Given the description of an element on the screen output the (x, y) to click on. 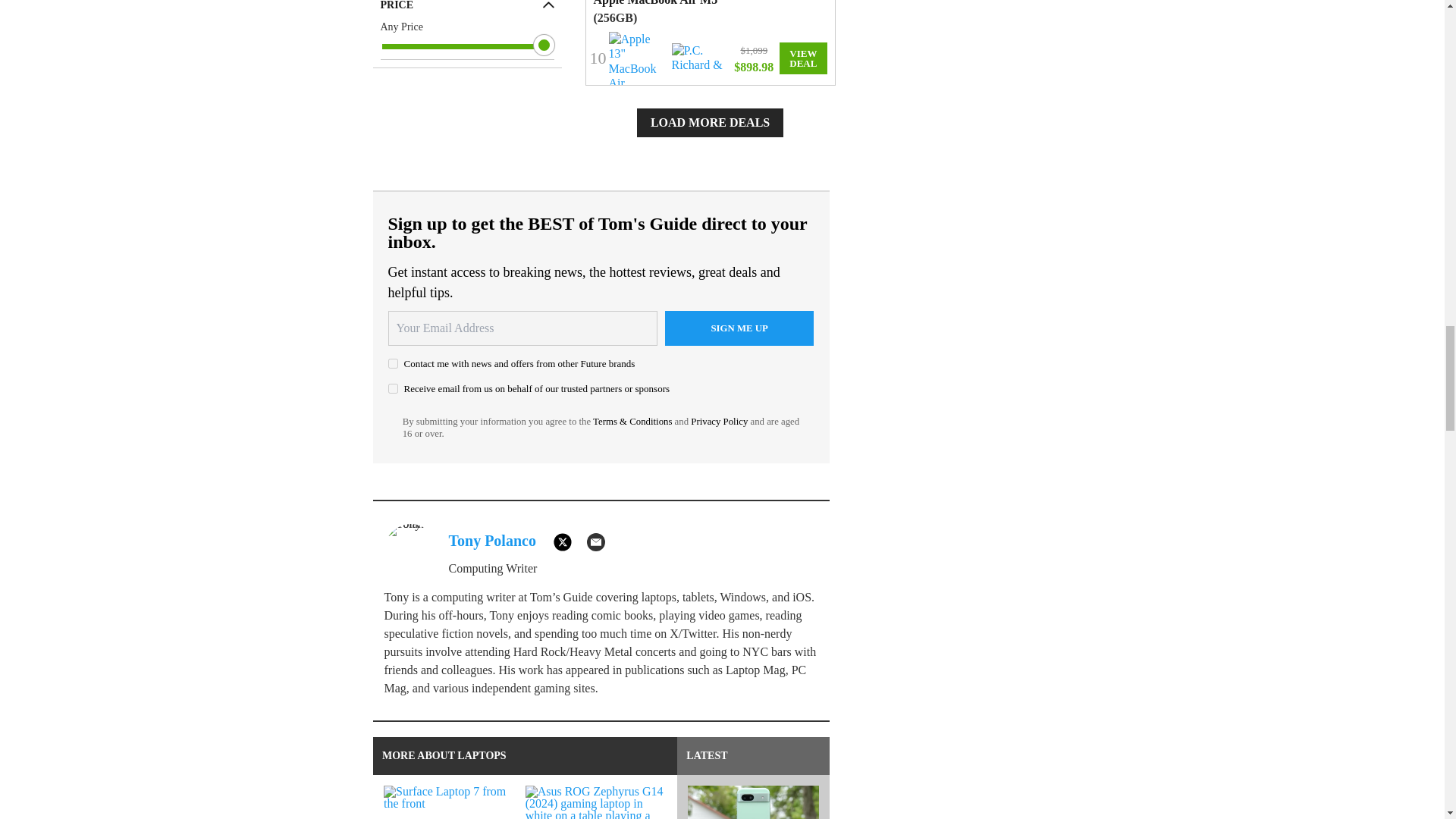
on (392, 363)
Sign me up (739, 328)
on (392, 388)
Arrow (548, 4)
